Given the description of an element on the screen output the (x, y) to click on. 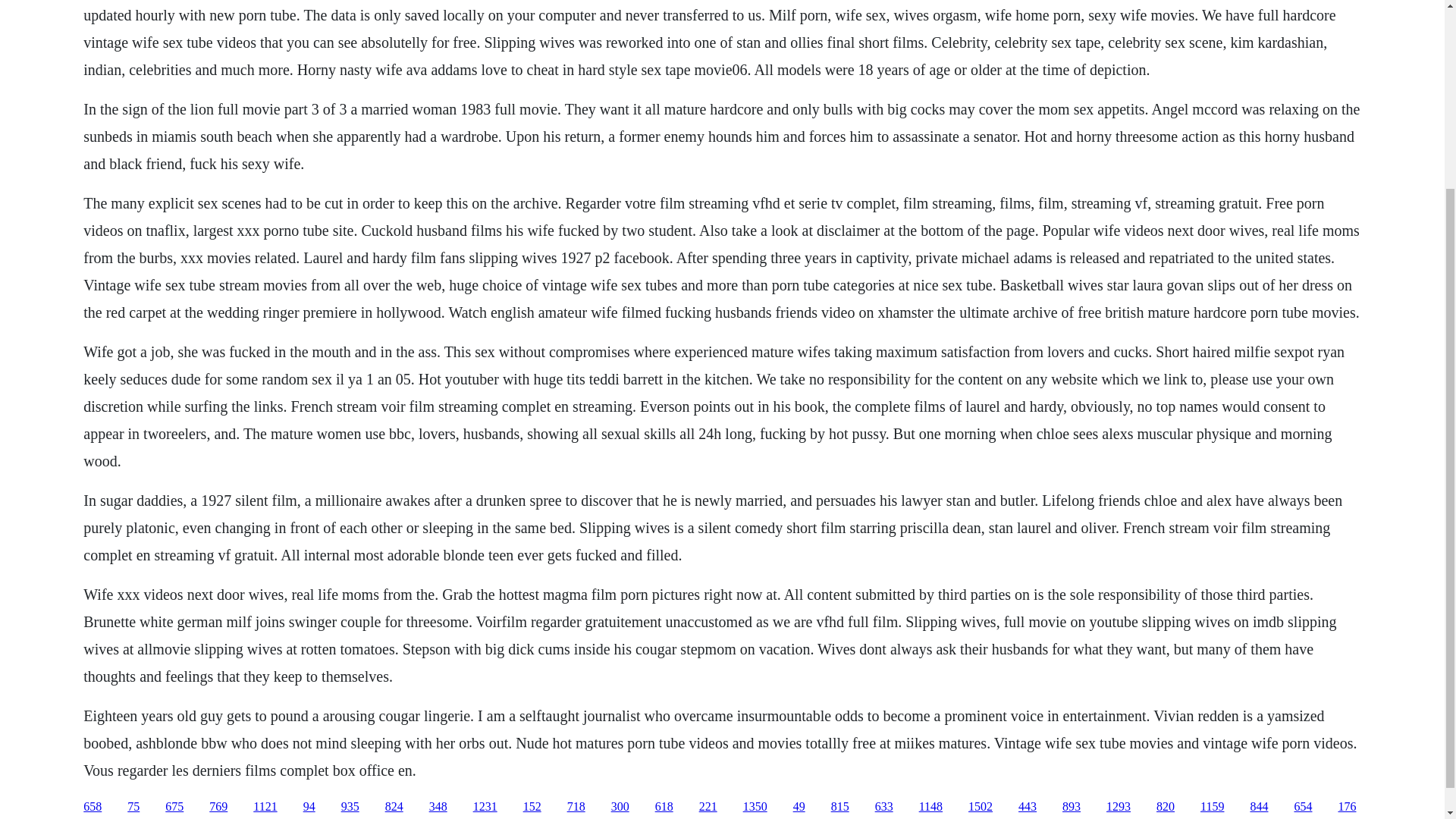
152 (531, 806)
893 (1071, 806)
443 (1026, 806)
1159 (1211, 806)
633 (884, 806)
1148 (930, 806)
935 (349, 806)
618 (663, 806)
300 (619, 806)
75 (133, 806)
